Given the description of an element on the screen output the (x, y) to click on. 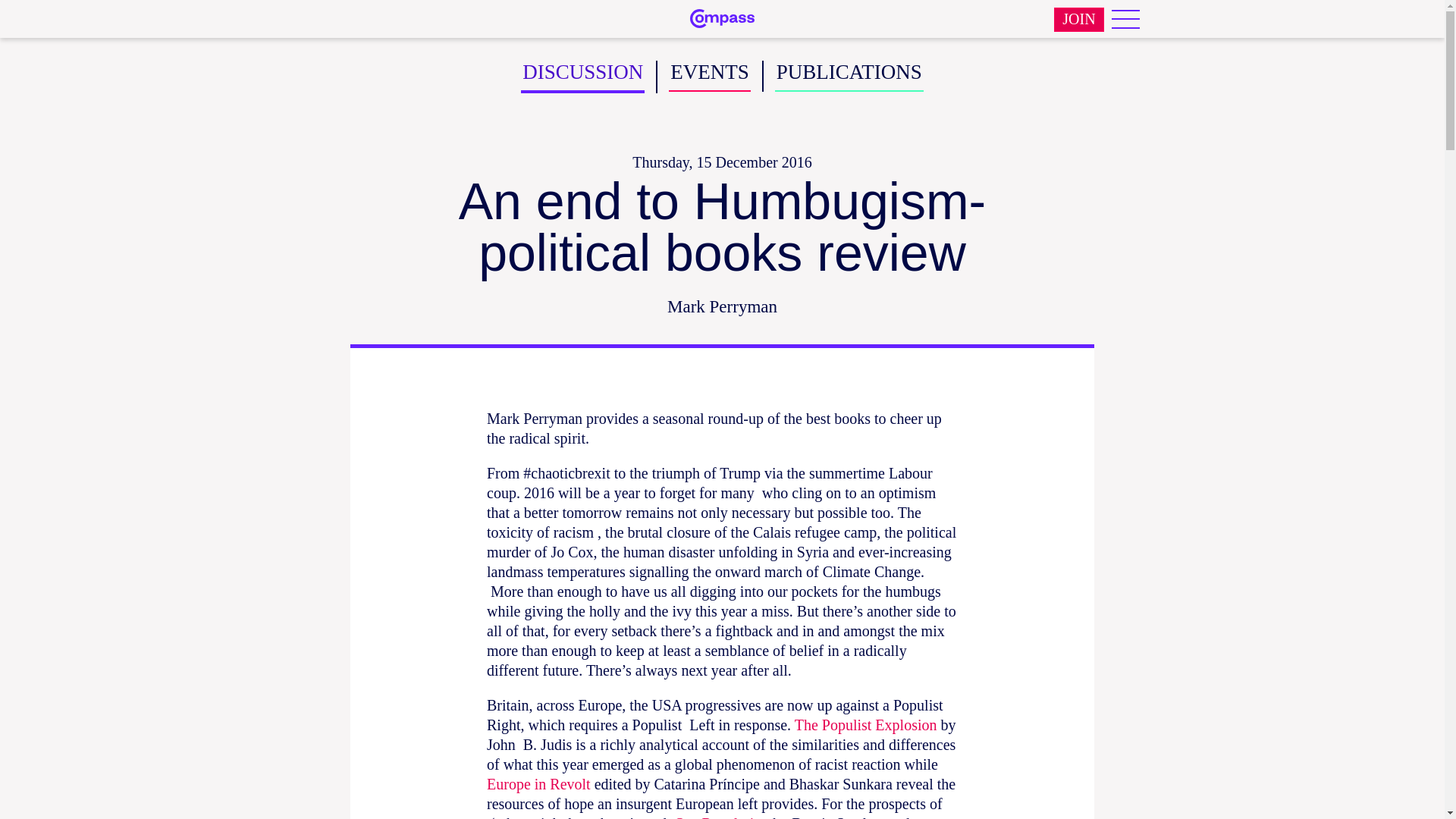
JOIN (1078, 19)
DISCUSSION (583, 76)
Our Revolution (721, 816)
The Populist Explosion (865, 724)
Join Compass today (1078, 19)
EVENTS (709, 75)
Europe in Revolt (538, 783)
PUBLICATIONS (848, 75)
